Given the description of an element on the screen output the (x, y) to click on. 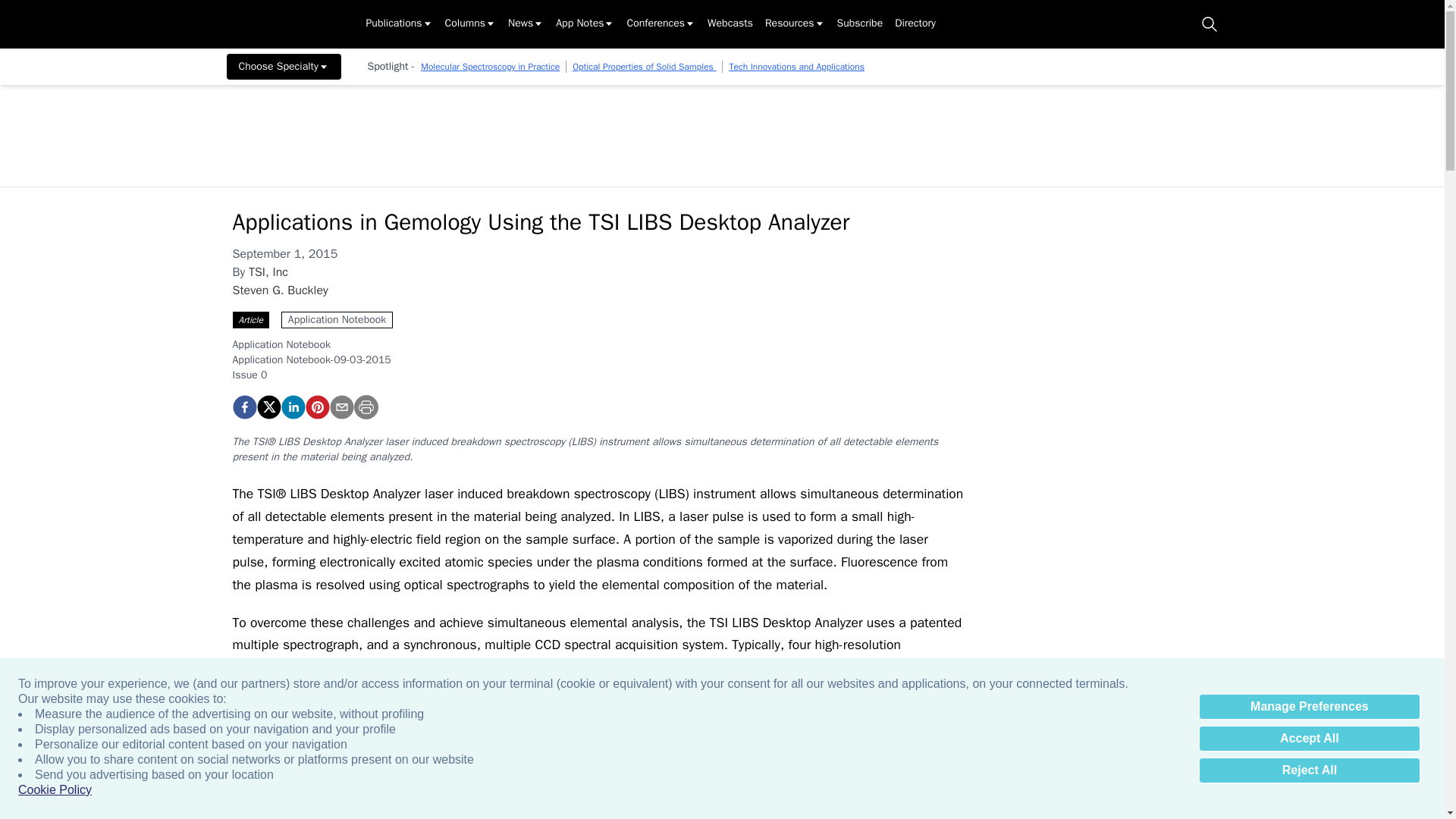
Applications in Gemology Using the TSI LIBS Desktop Analyzer (243, 406)
Conferences (660, 23)
Cookie Policy (54, 789)
Publications (398, 23)
Reject All (1309, 769)
Columns (470, 23)
Resources (795, 23)
News (525, 23)
App Notes (585, 23)
Accept All (1309, 738)
